Given the description of an element on the screen output the (x, y) to click on. 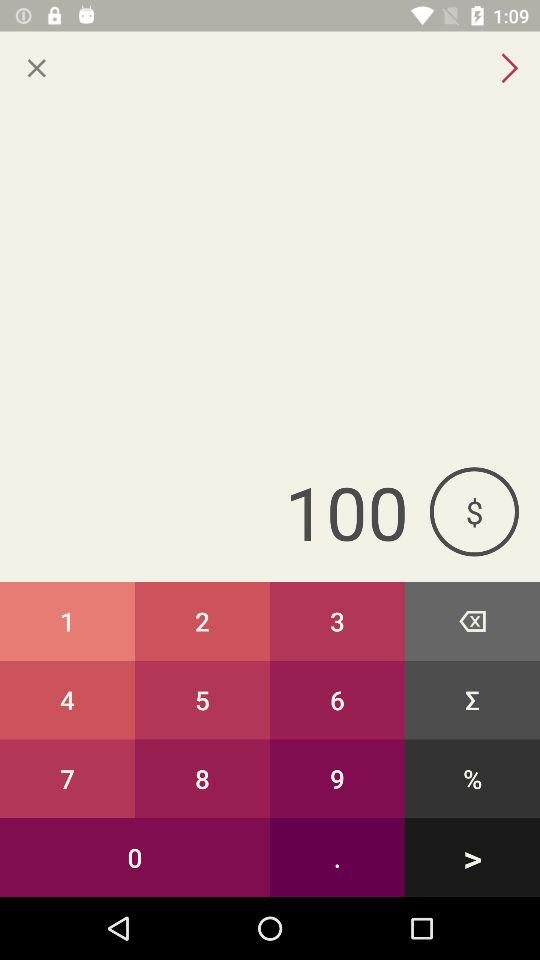
tap icon below the 100 (472, 620)
